Given the description of an element on the screen output the (x, y) to click on. 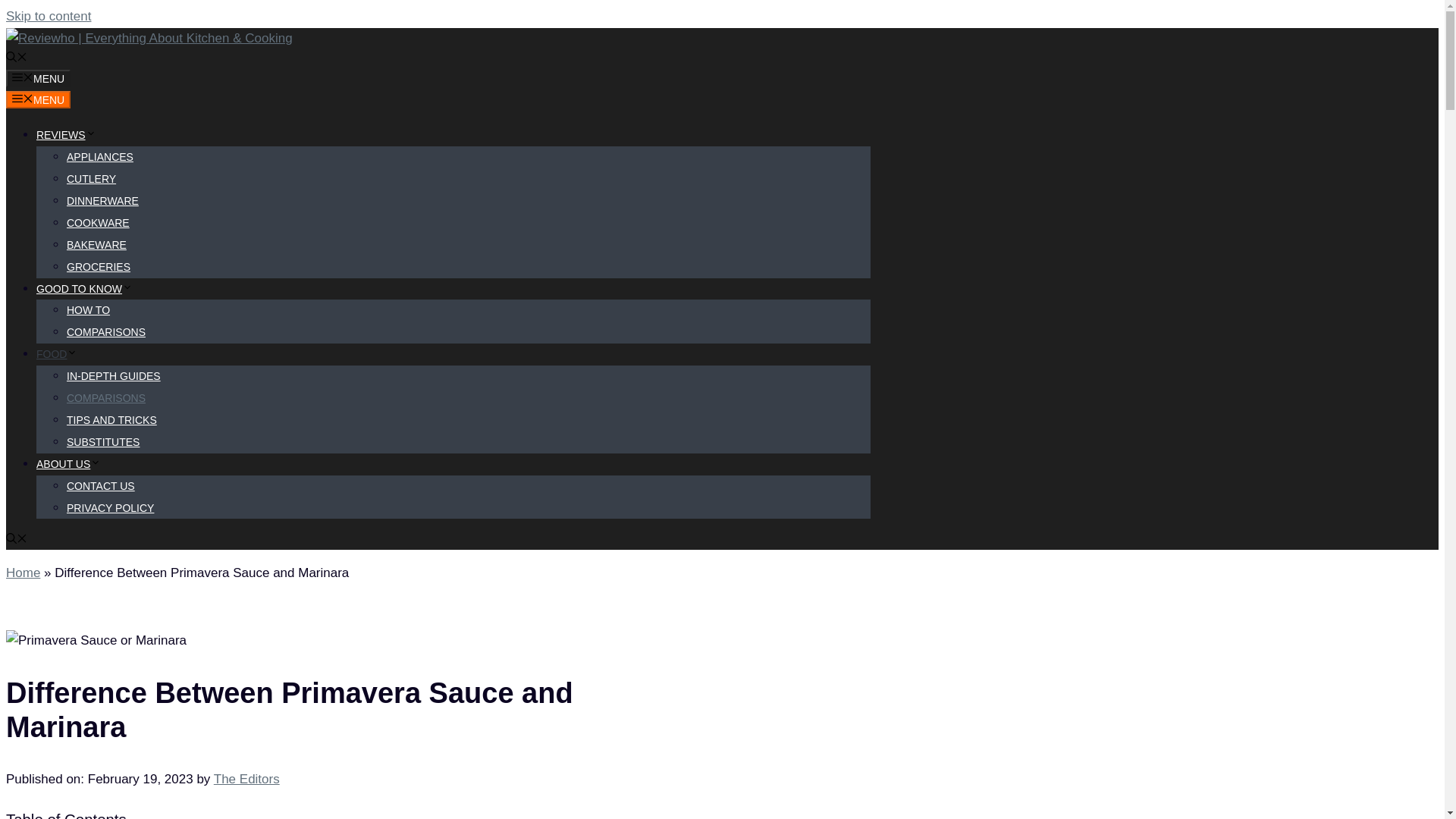
REVIEWS (66, 134)
TIPS AND TRICKS (111, 419)
COOKWARE (97, 223)
MENU (37, 99)
COMPARISONS (105, 398)
PRIVACY POLICY (110, 508)
The Editors (246, 779)
CONTACT US (100, 485)
GROCERIES (98, 266)
APPLIANCES (99, 156)
